Given the description of an element on the screen output the (x, y) to click on. 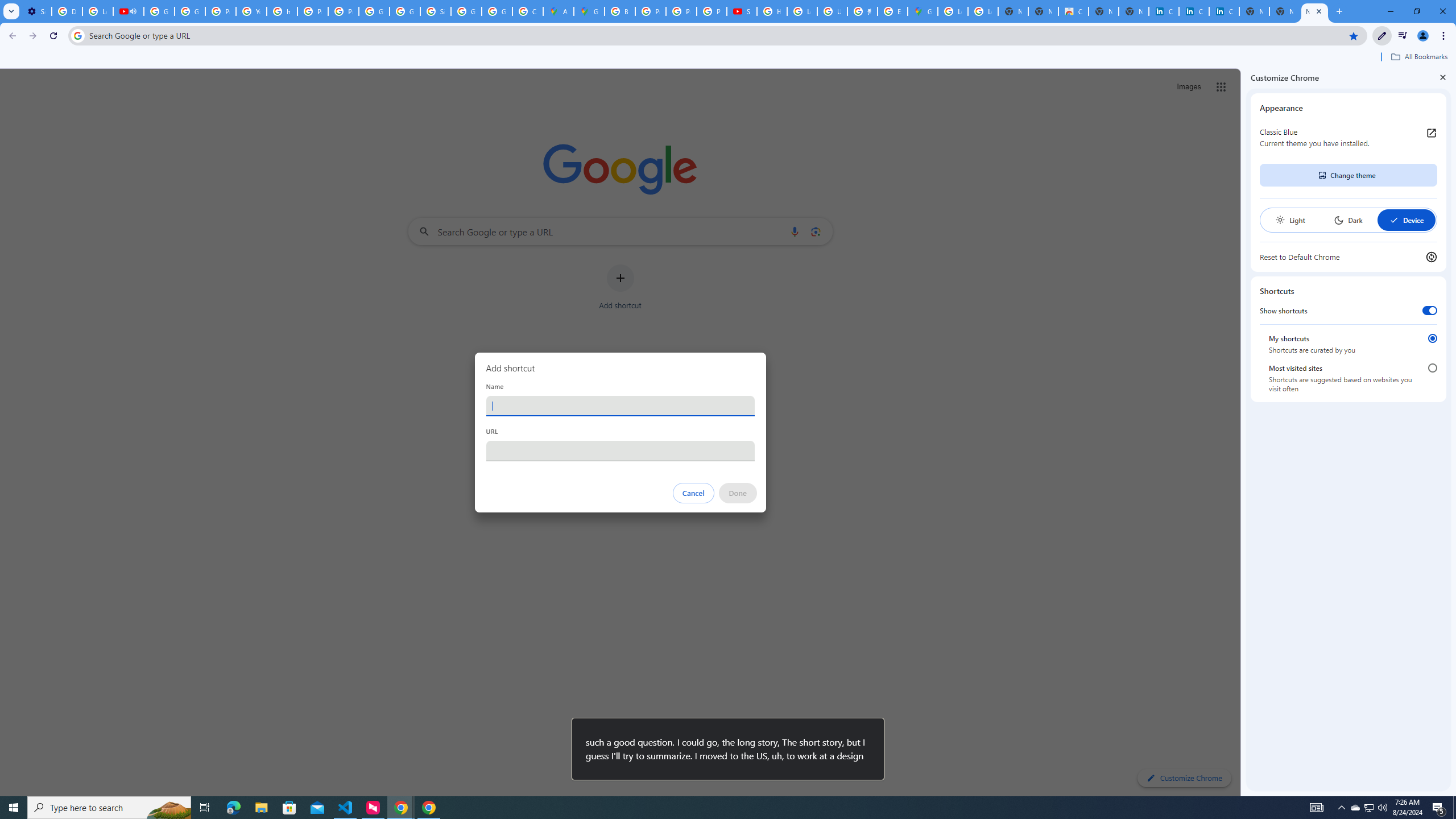
Search icon (77, 35)
Side Panel Resize Handle (1242, 431)
AutomationID: baseSvg (1394, 219)
Sign in - Google Accounts (434, 11)
Control your music, videos, and more (1402, 35)
Google Account Help (158, 11)
Subscriptions - YouTube (741, 11)
Learn how to find your photos - Google Photos Help (97, 11)
Delete photos & videos - Computer - Google Photos Help (66, 11)
Customize Chrome (1382, 35)
